Given the description of an element on the screen output the (x, y) to click on. 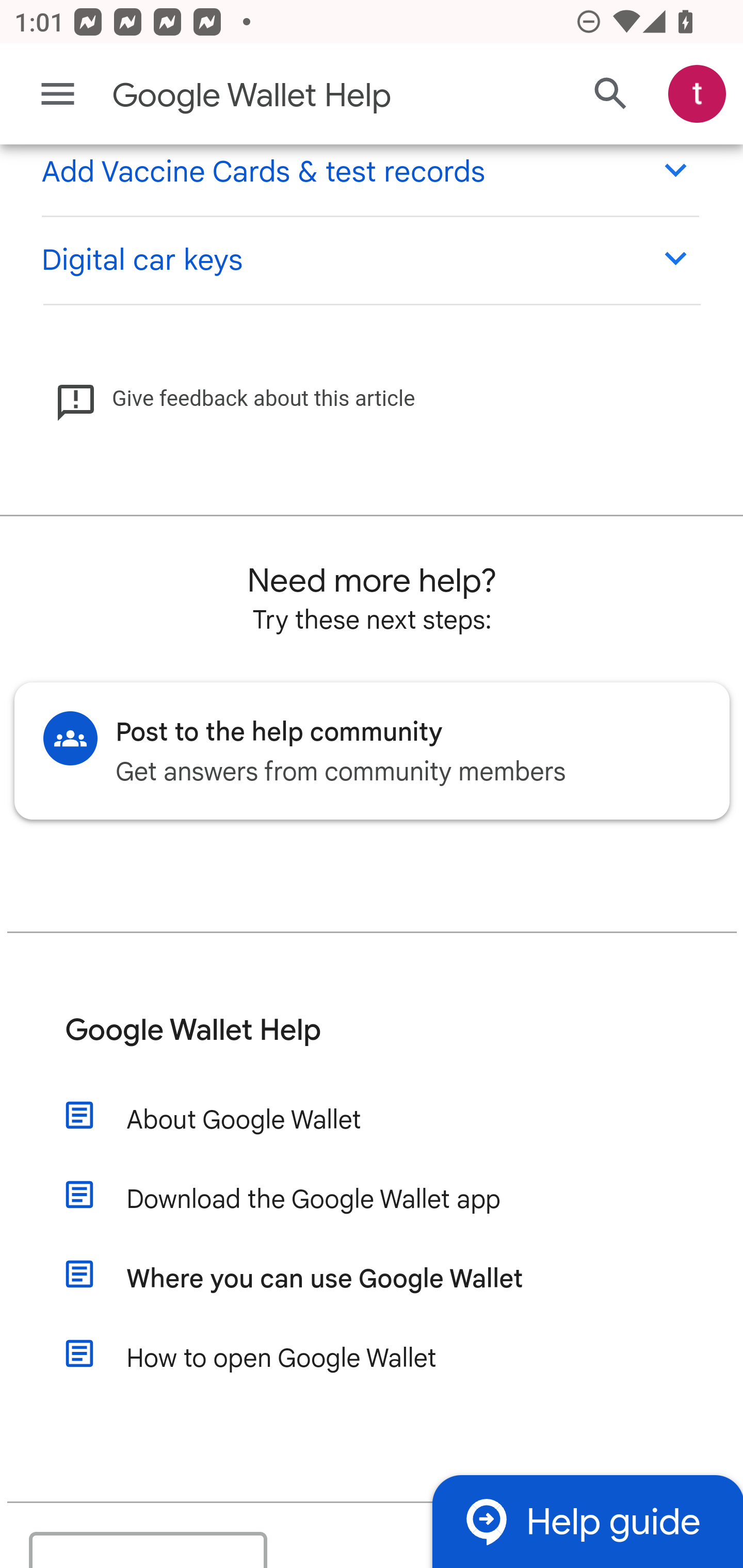
Main menu (58, 93)
Google Wallet Help (292, 96)
Search Help Center (611, 94)
Add Vaccine Cards & test records (369, 171)
Digital car keys (369, 259)
Give feedback about this article (235, 399)
About Google Wallet (312, 1120)
Download the Google Wallet app (312, 1200)
Where you can use Google Wallet (312, 1280)
How to open Google Wallet (312, 1359)
Help guide (587, 1520)
